Given the description of an element on the screen output the (x, y) to click on. 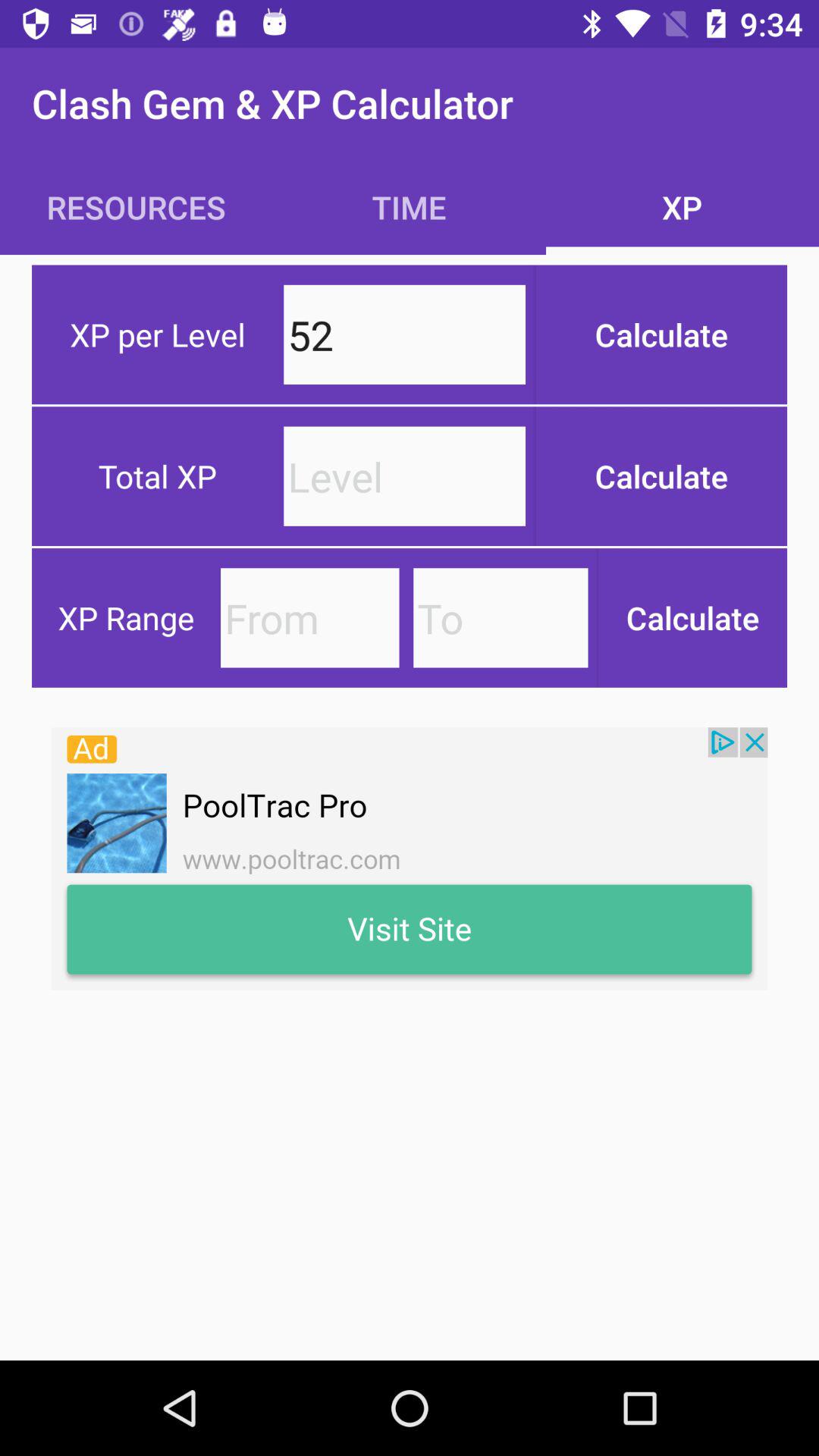
enter from xp (309, 617)
